Given the description of an element on the screen output the (x, y) to click on. 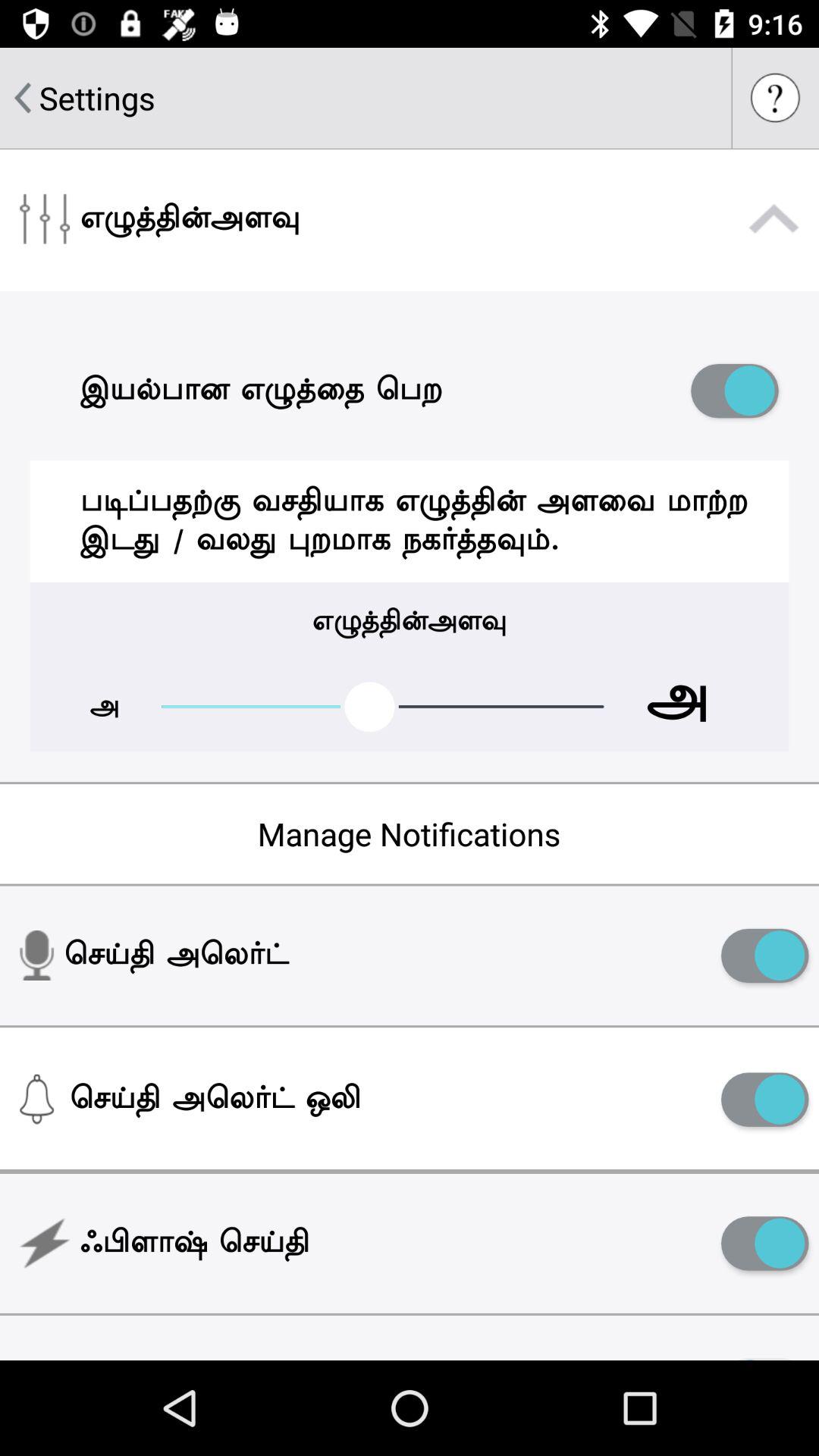
jump until settings (97, 97)
